Given the description of an element on the screen output the (x, y) to click on. 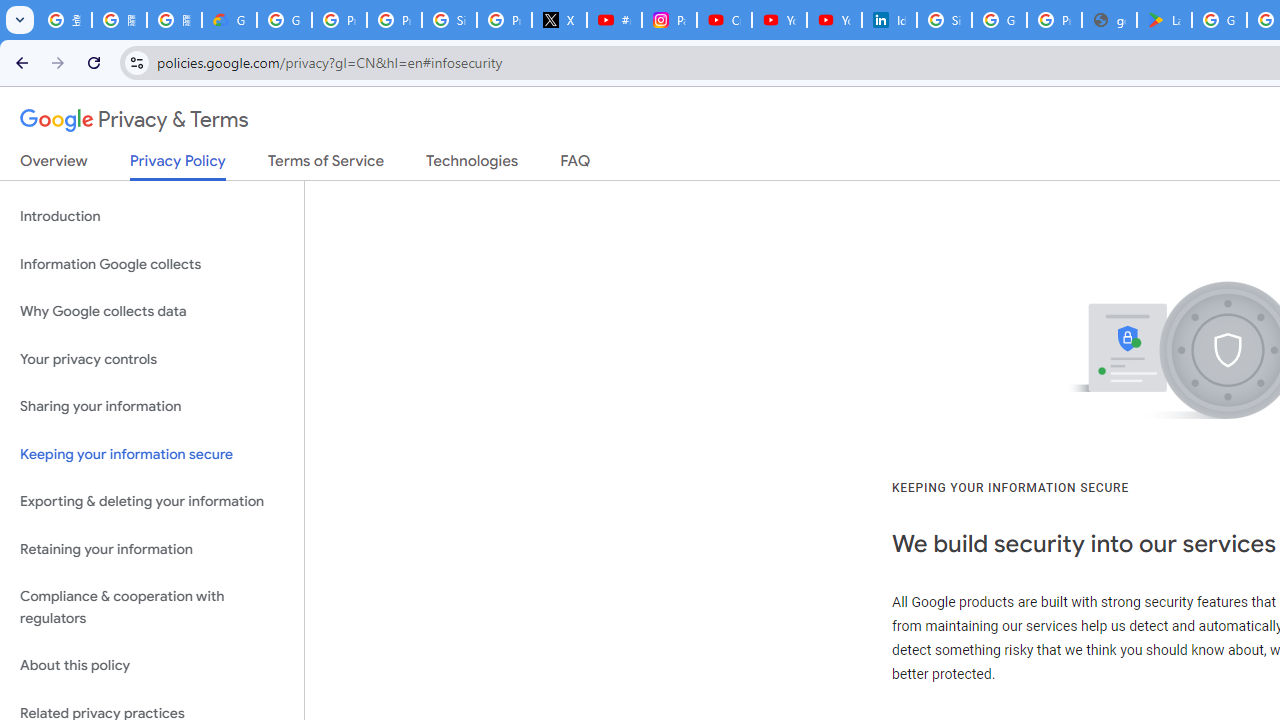
Keeping your information secure (152, 453)
Retaining your information (152, 548)
#nbabasketballhighlights - YouTube (614, 20)
Information Google collects (152, 263)
Sign in - Google Accounts (943, 20)
Google Cloud Privacy Notice (229, 20)
X (559, 20)
About this policy (152, 666)
